Given the description of an element on the screen output the (x, y) to click on. 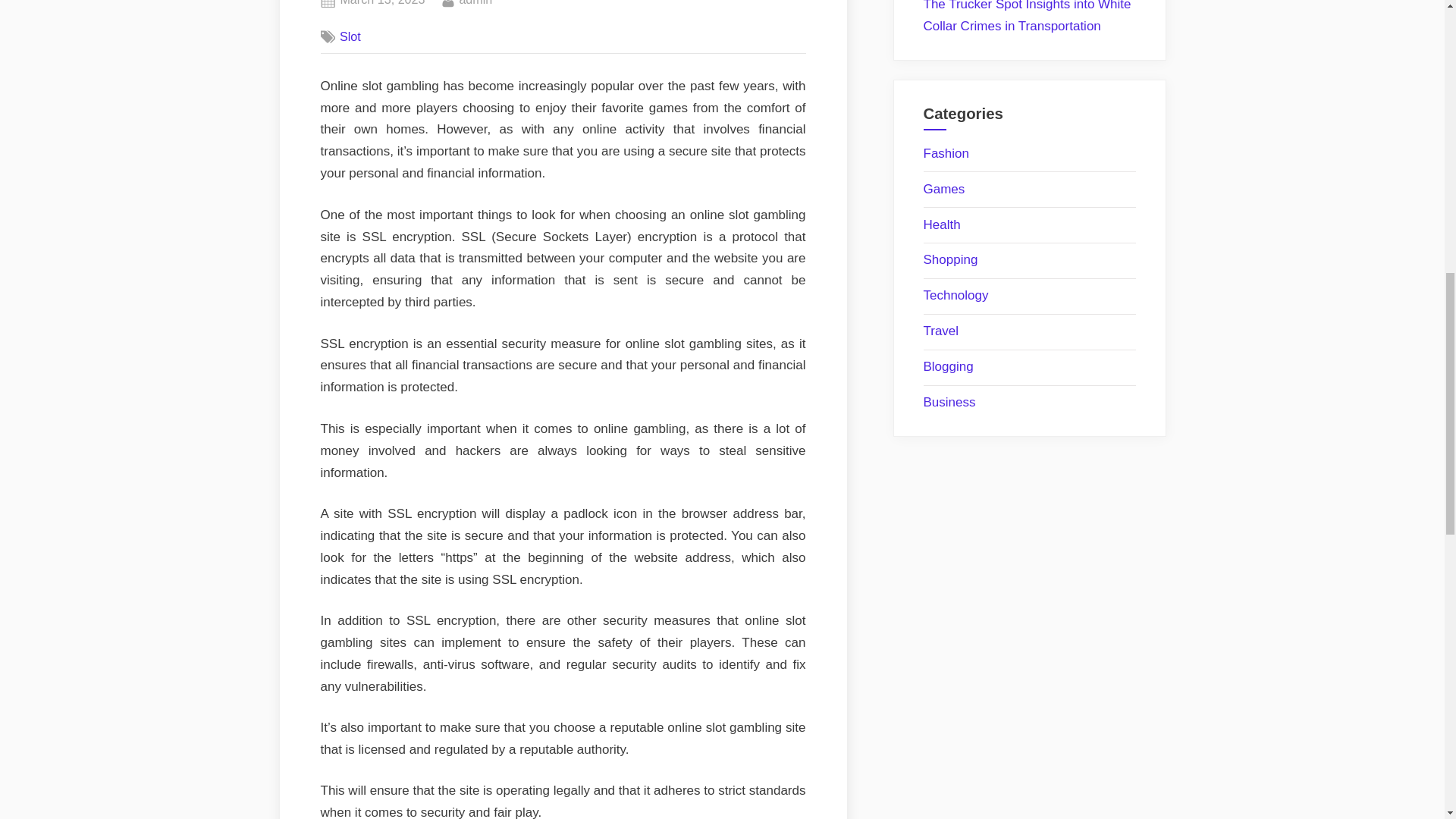
Fashion (382, 5)
Slot (946, 153)
Shopping (350, 36)
Health (950, 259)
Games (941, 224)
